Given the description of an element on the screen output the (x, y) to click on. 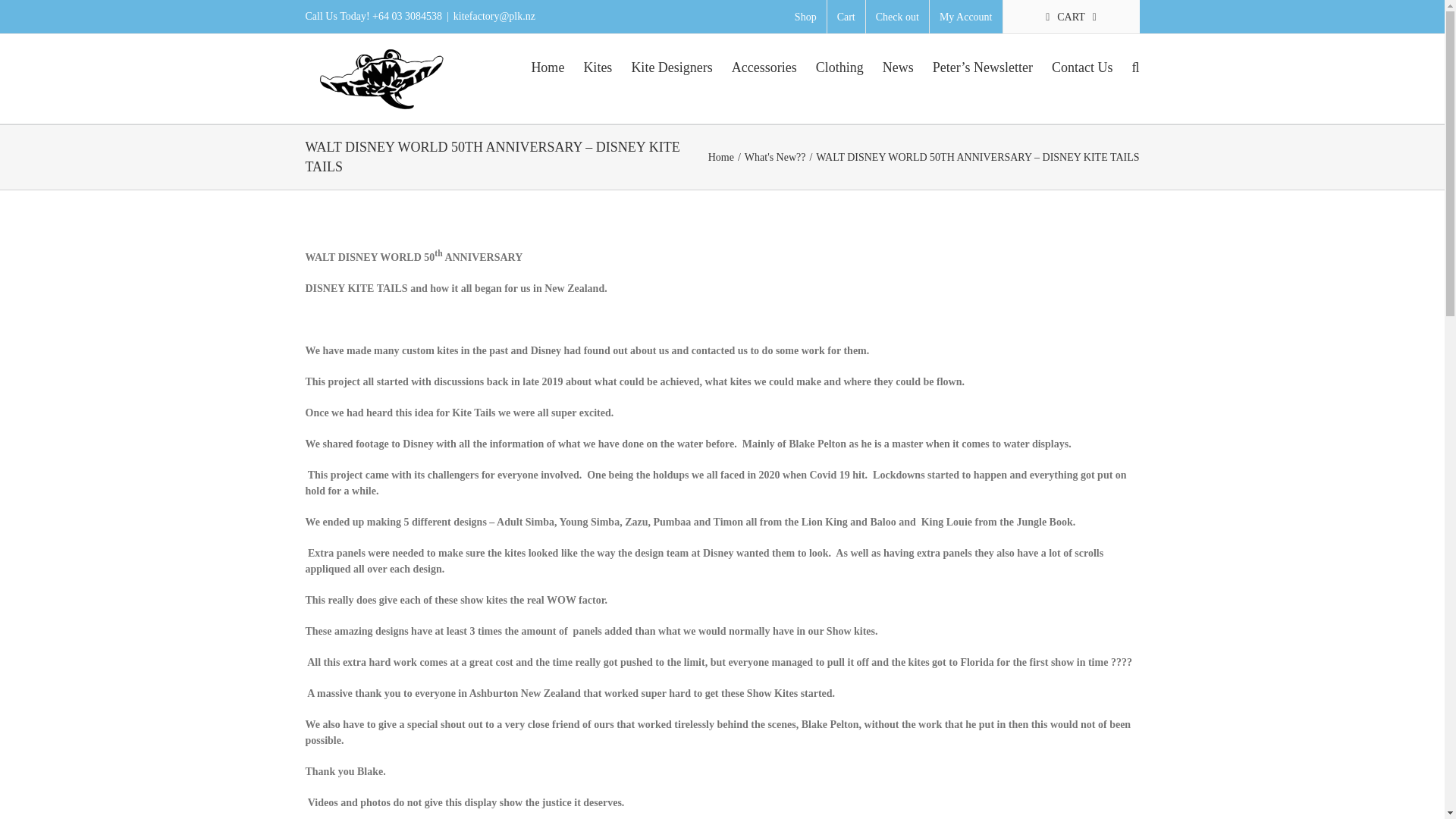
Log In (1022, 144)
Kite Designers (670, 65)
Check out (897, 16)
My Account (966, 16)
Cart (845, 16)
CART (1071, 16)
Contact Us (1082, 65)
Accessories (764, 65)
Shop (805, 16)
